Given the description of an element on the screen output the (x, y) to click on. 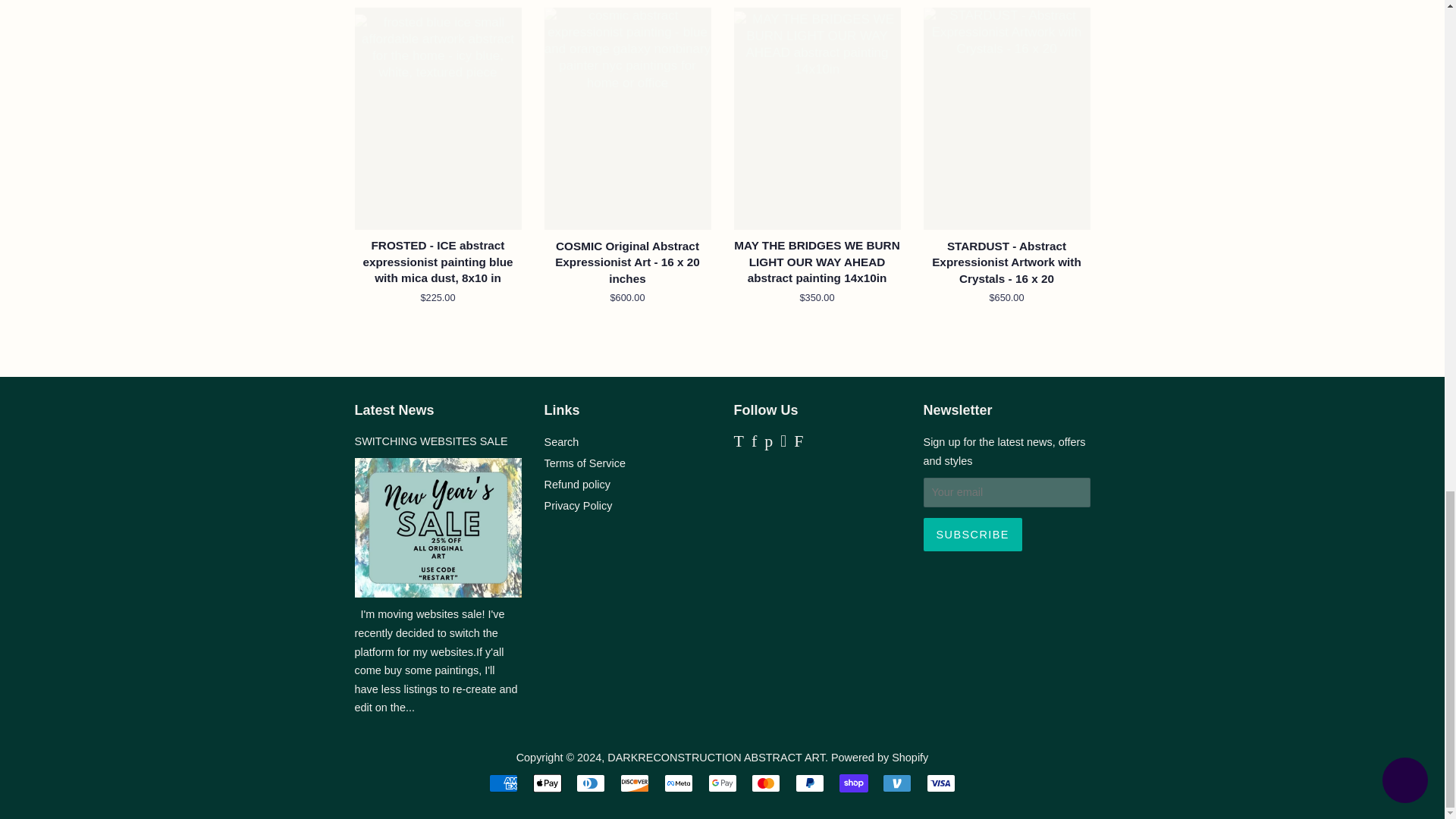
Google Pay (721, 782)
Diners Club (590, 782)
Venmo (896, 782)
Discover (634, 782)
Mastercard (765, 782)
Latest News (394, 409)
SWITCHING WEBSITES SALE (431, 440)
Shop Pay (853, 782)
American Express (503, 782)
Visa (940, 782)
